Given the description of an element on the screen output the (x, y) to click on. 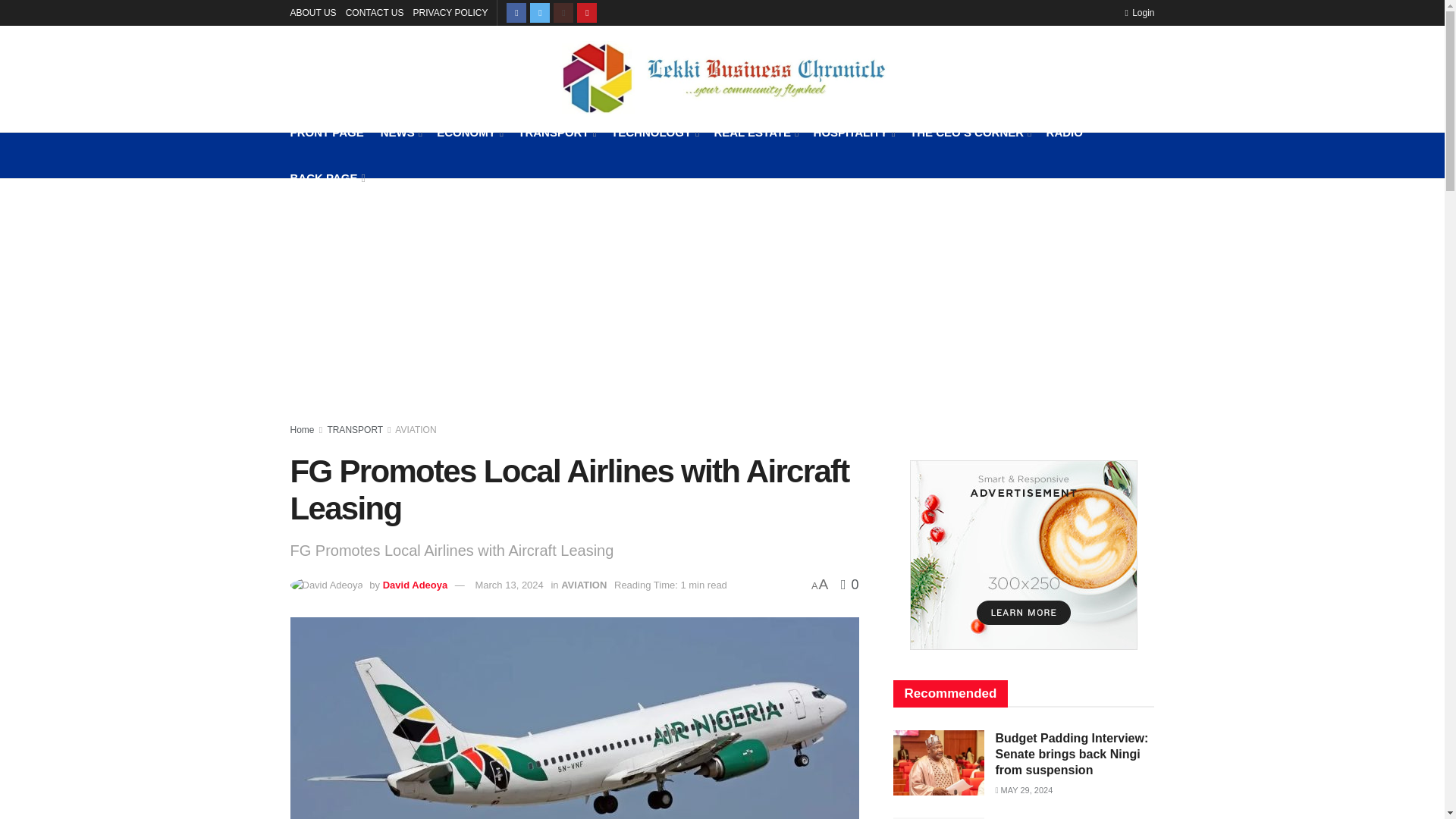
CONTACT US (375, 12)
ECONOMY (468, 132)
ABOUT US (312, 12)
PRIVACY POLICY (450, 12)
NEWS (400, 132)
FRONT PAGE (325, 132)
Login (1139, 12)
